Given the description of an element on the screen output the (x, y) to click on. 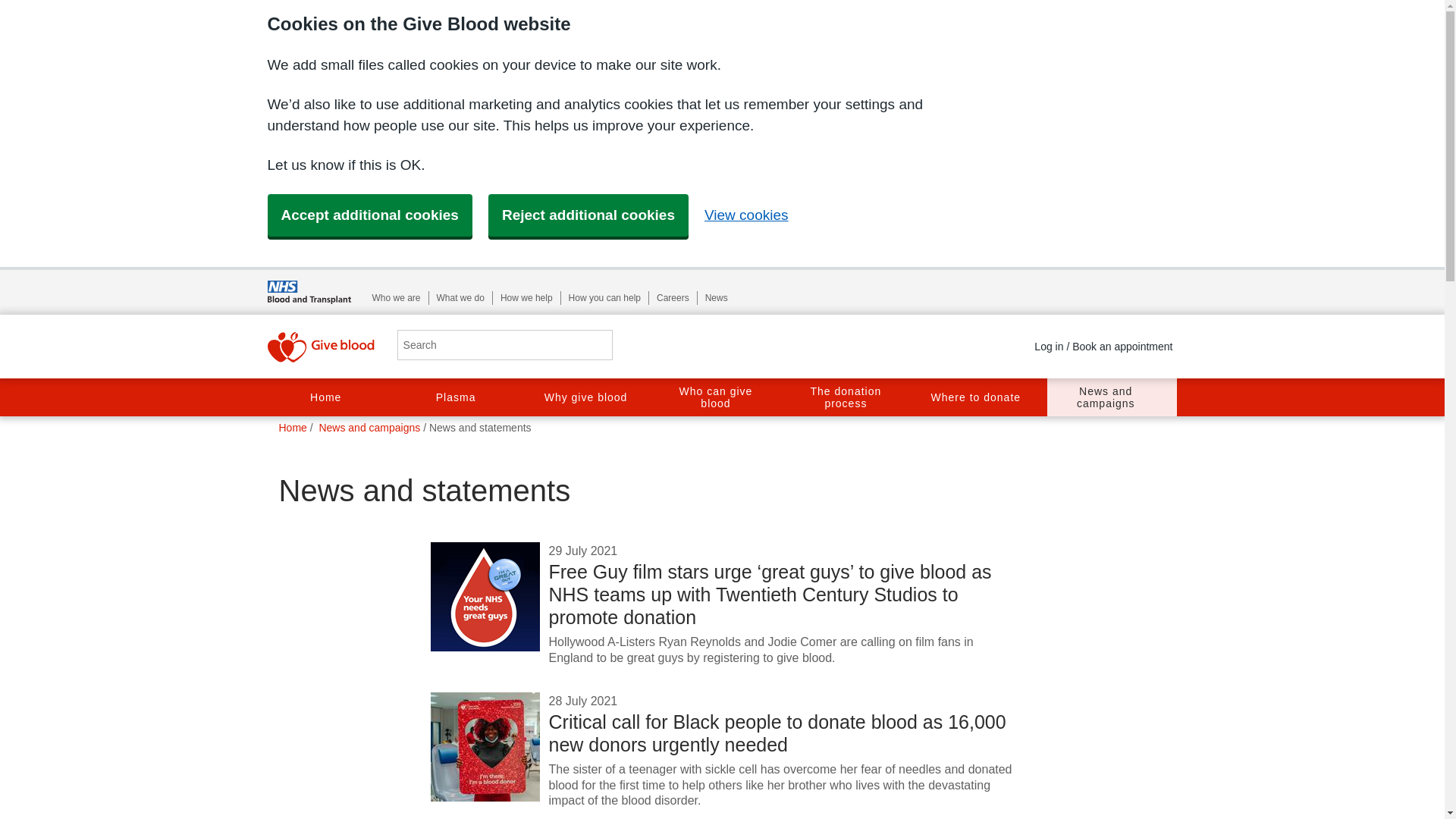
Reject additional cookies (587, 215)
How we help (526, 297)
What we do (460, 297)
Accept additional cookies (368, 215)
Search (595, 345)
News (716, 297)
Home (331, 397)
How you can help (604, 297)
View cookies (746, 214)
Who we are (395, 297)
